Given the description of an element on the screen output the (x, y) to click on. 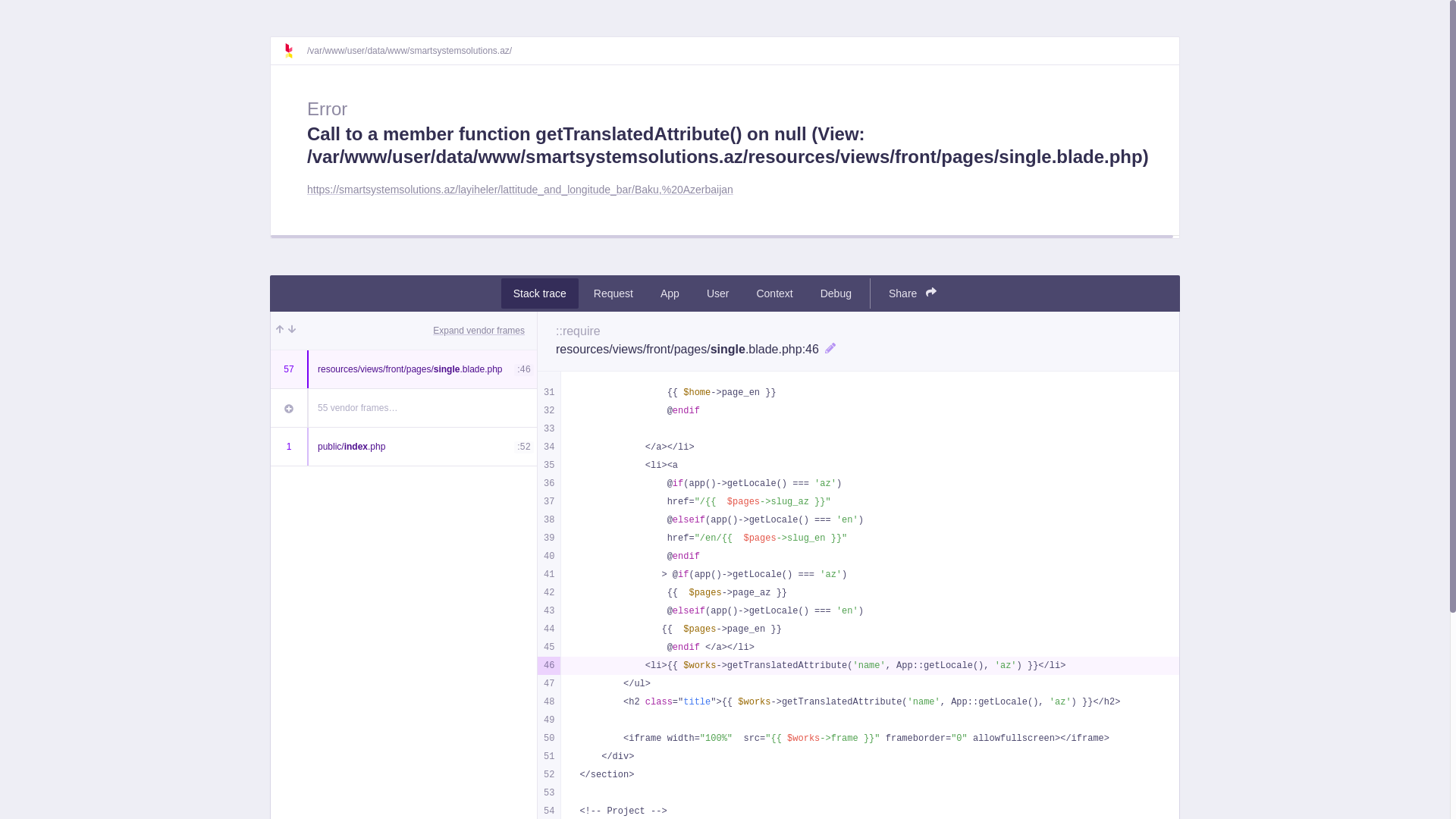
Expand vendor frames Element type: text (478, 330)
Stack trace Element type: text (539, 293)
User Element type: text (717, 293)
Frame up (Key:K) Element type: hover (279, 330)
Share Element type: text (912, 293)
App Element type: text (669, 293)
Debug Element type: text (835, 293)
Context Element type: text (773, 293)
Ignition docs Element type: hover (294, 50)
Frame down (Key:J) Element type: hover (291, 330)
Request Element type: text (613, 293)
